Given the description of an element on the screen output the (x, y) to click on. 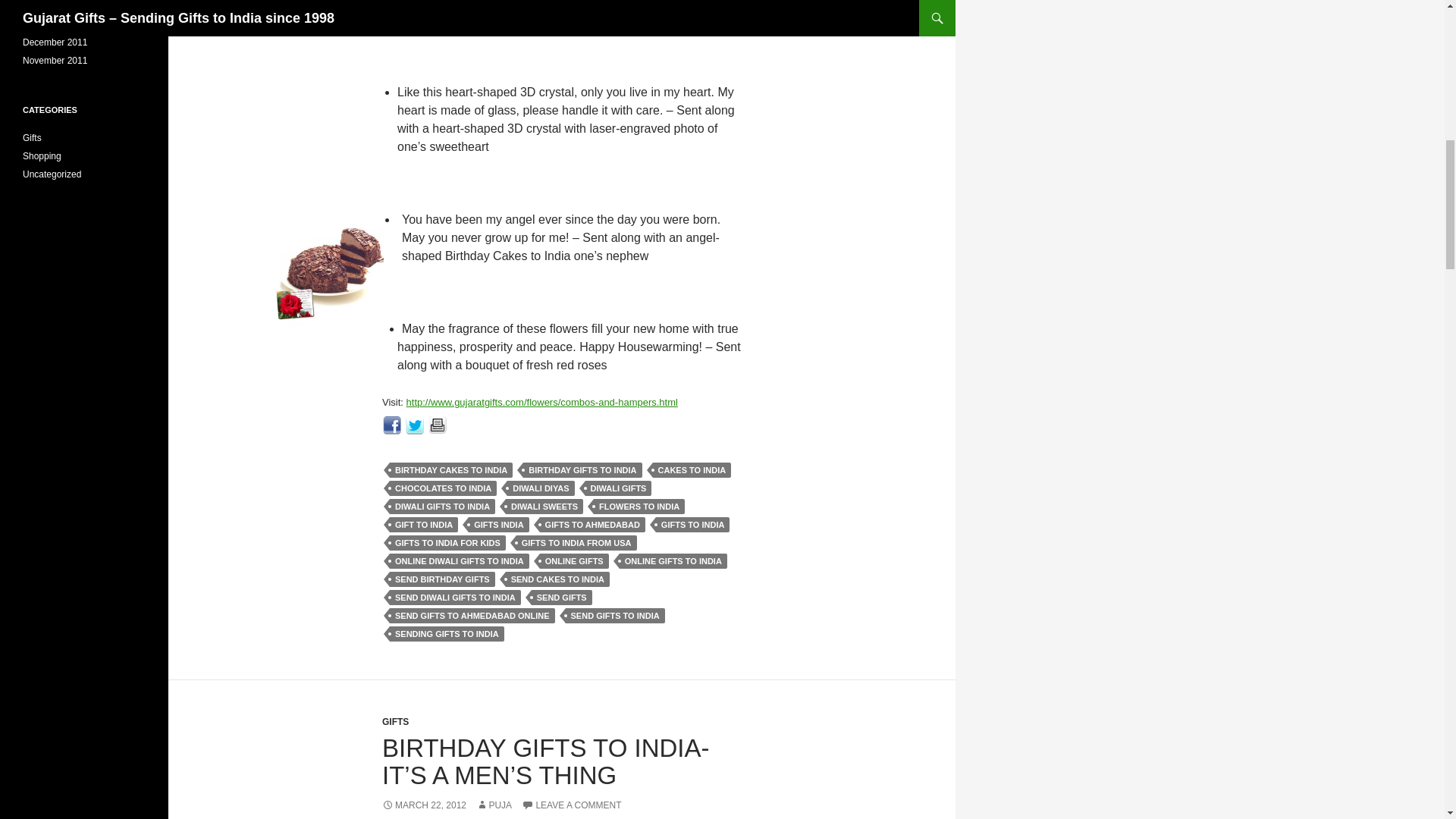
Birthday Cakes (326, 273)
CAKES TO INDIA (692, 469)
GIFT TO INDIA (424, 524)
SEND GIFTS TO INDIA (615, 615)
GIFTS TO INDIA FOR KIDS (447, 542)
BIRTHDAY GIFTS TO INDIA (582, 469)
CHOCOLATES TO INDIA (443, 488)
FLOWERS TO INDIA (639, 506)
ONLINE GIFTS (574, 560)
GIFTS TO INDIA FROM USA (576, 542)
DIWALI DIYAS (539, 488)
GIFTS INDIA (498, 524)
ONLINE GIFTS TO INDIA (673, 560)
Print this page (438, 423)
DIWALI SWEETS (544, 506)
